Given the description of an element on the screen output the (x, y) to click on. 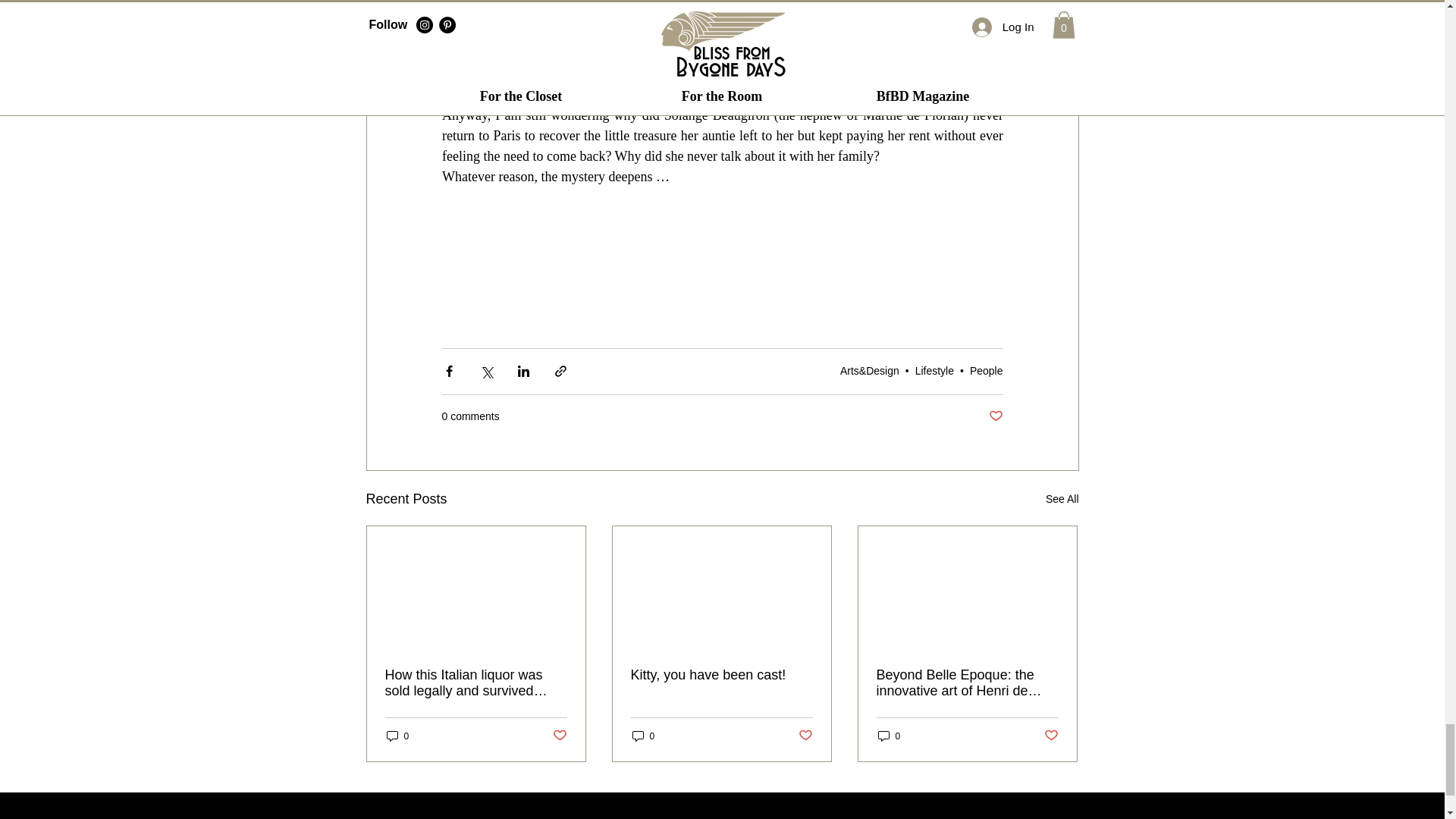
0 (889, 735)
People (986, 370)
Kitty, you have been cast! (721, 675)
0 (643, 735)
Post not marked as liked (995, 416)
See All (1061, 499)
Lifestyle (934, 370)
0 (397, 735)
Post not marked as liked (804, 735)
Post not marked as liked (558, 735)
